Given the description of an element on the screen output the (x, y) to click on. 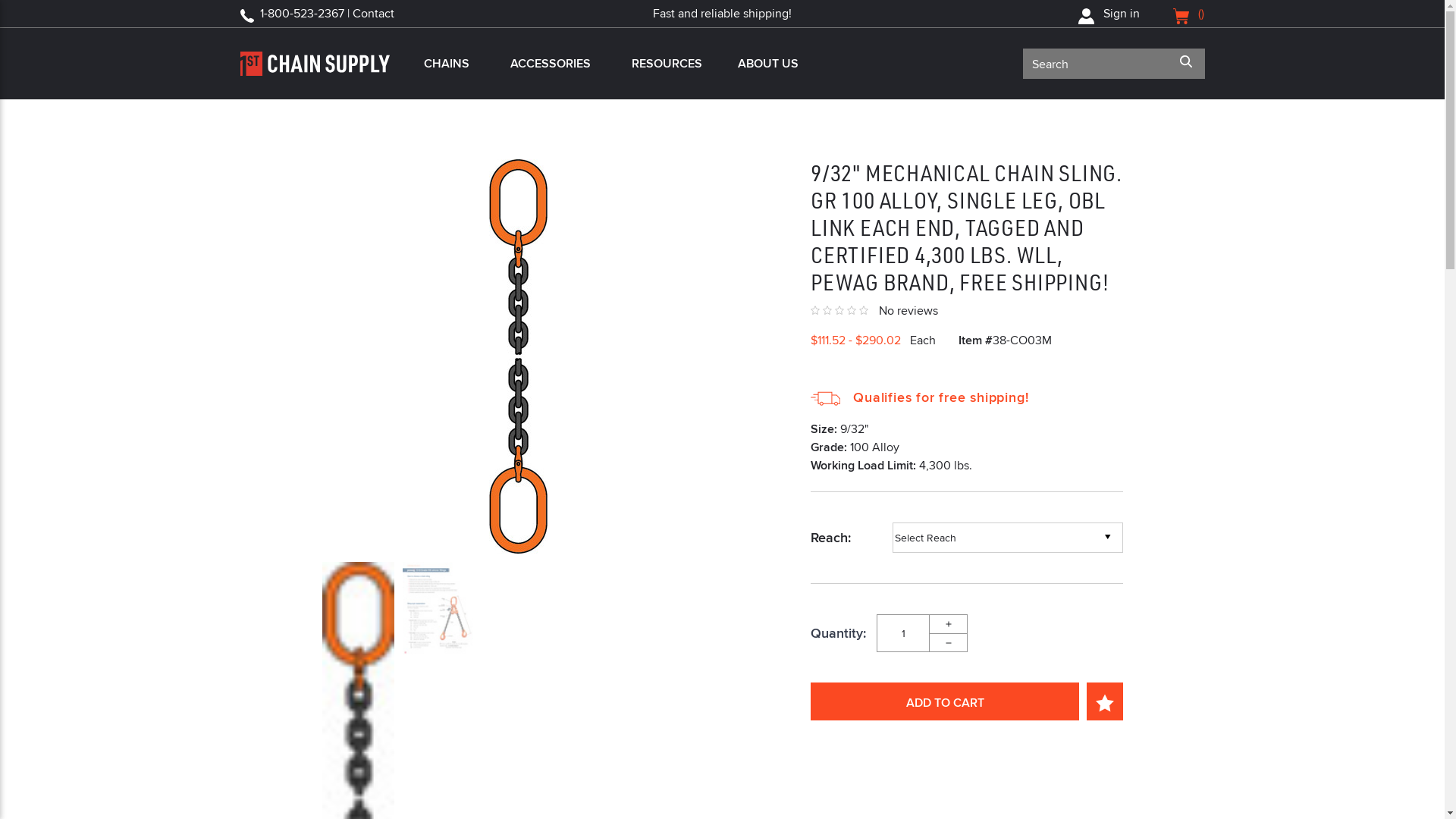
How to choose a sling Element type: hover (438, 608)
INCREASE QUANTITY Element type: text (948, 623)
DECREASE QUANTITY Element type: text (948, 642)
1st Chain Supply Element type: hover (314, 63)
Add to Cart Element type: text (944, 701)
1-800-523-2367 | Contact Element type: text (326, 12)
Cart
() Element type: text (1188, 13)
Single leg sling with oblong master links both ends Element type: hover (518, 356)
ACCESSORIES Element type: text (550, 63)
ABOUT US Element type: text (768, 63)
CHAINS Element type: text (446, 63)
RESOURCES Element type: text (664, 63)
Sign in Element type: text (1108, 13)
